Given the description of an element on the screen output the (x, y) to click on. 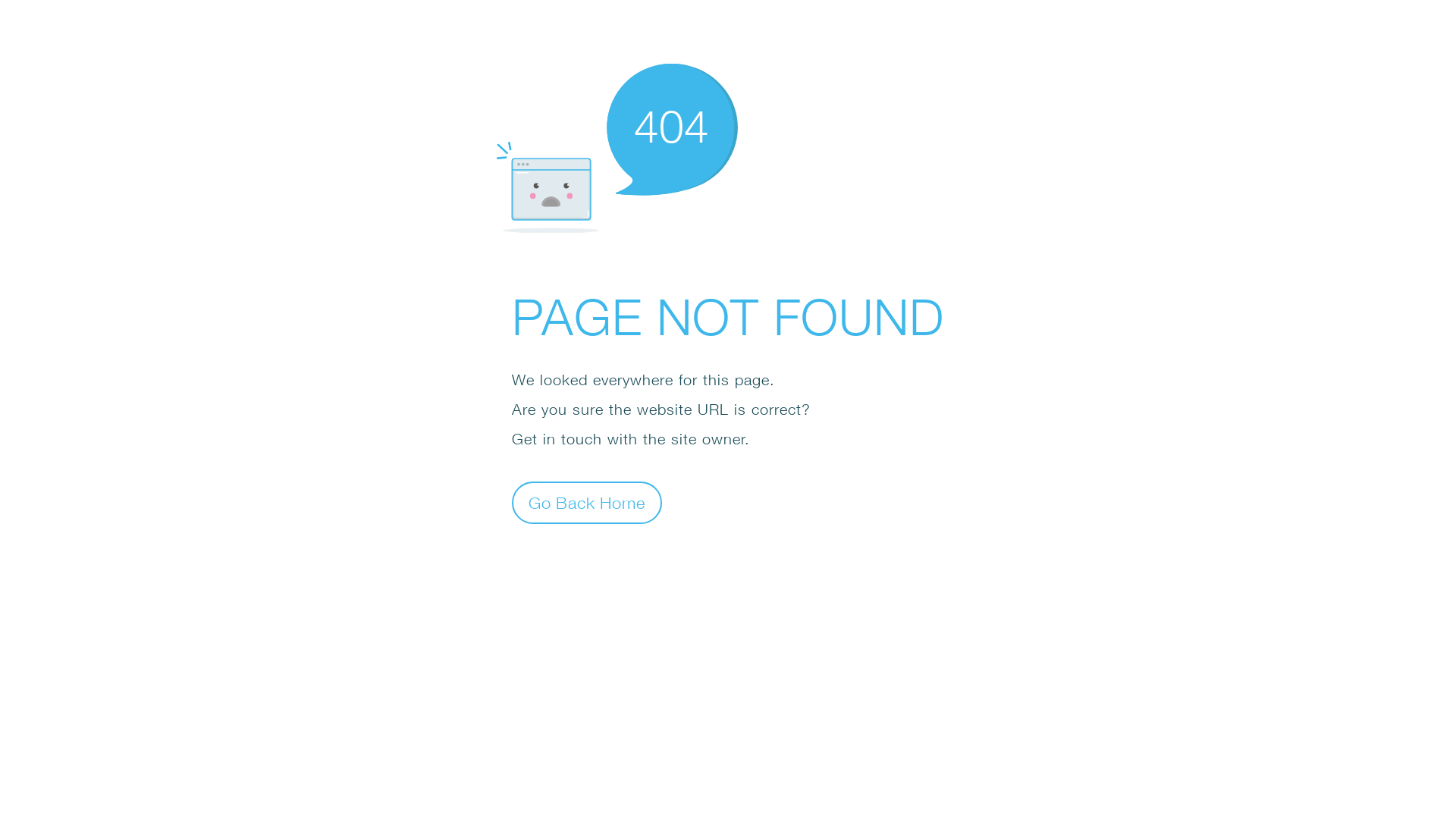
Go Back Home Element type: text (586, 502)
